Given the description of an element on the screen output the (x, y) to click on. 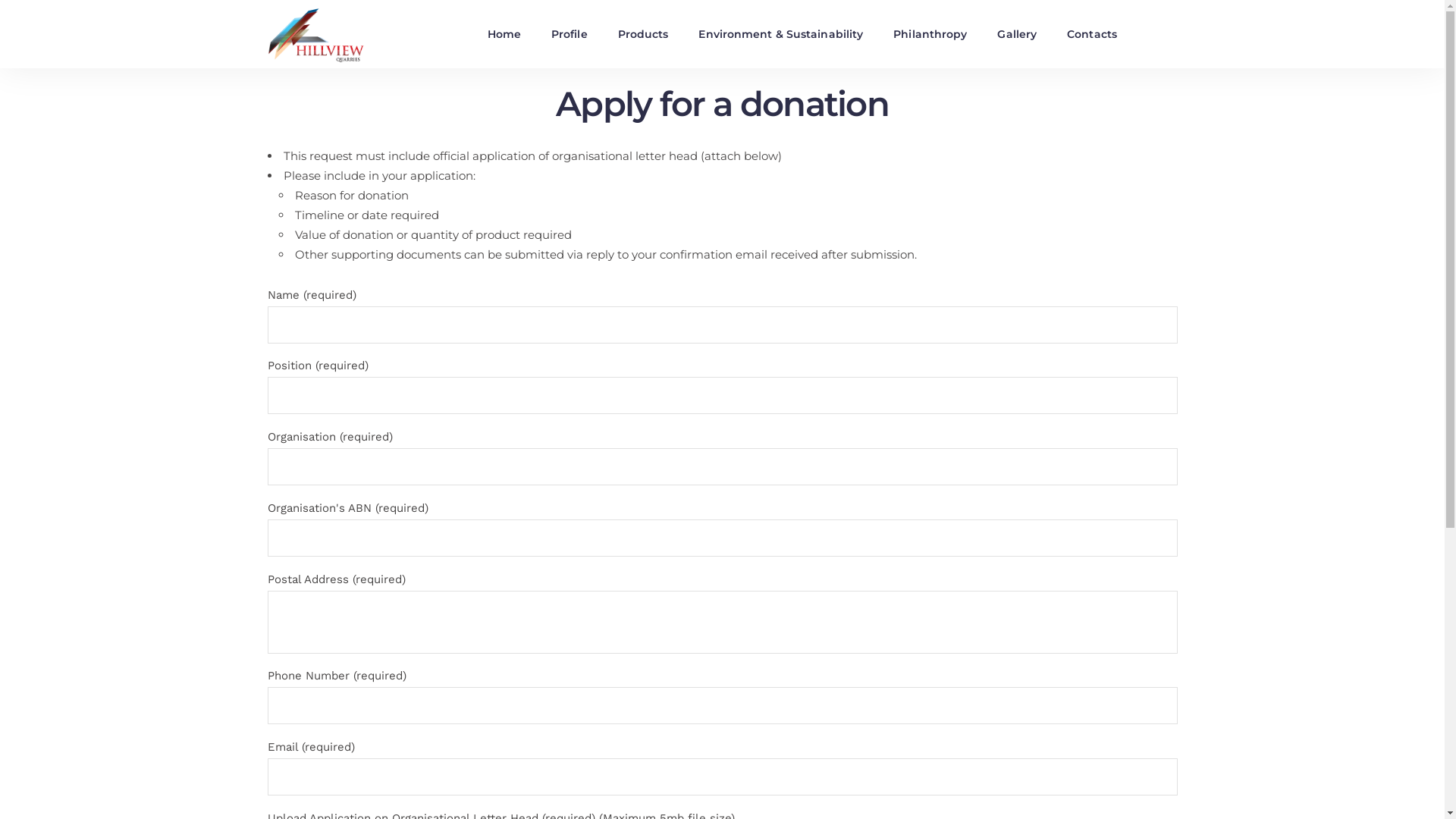
Profile Element type: text (569, 34)
Products Element type: text (643, 34)
Gallery Element type: text (1016, 34)
Contacts Element type: text (1091, 34)
Environment & Sustainability Element type: text (780, 34)
Home Element type: text (503, 34)
Philanthropy Element type: text (930, 34)
